Given the description of an element on the screen output the (x, y) to click on. 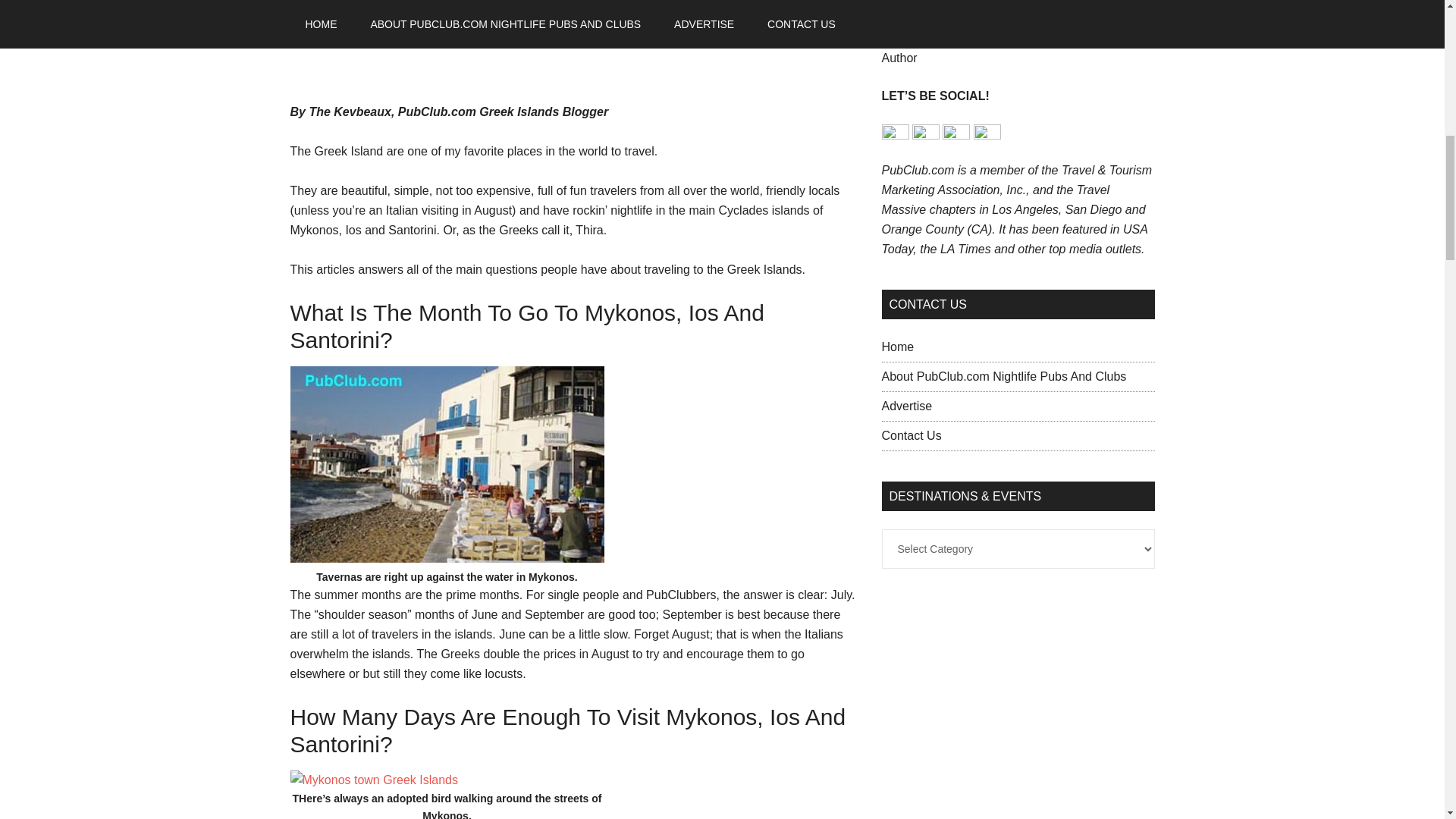
YouTube video player (994, 2)
